Given the description of an element on the screen output the (x, y) to click on. 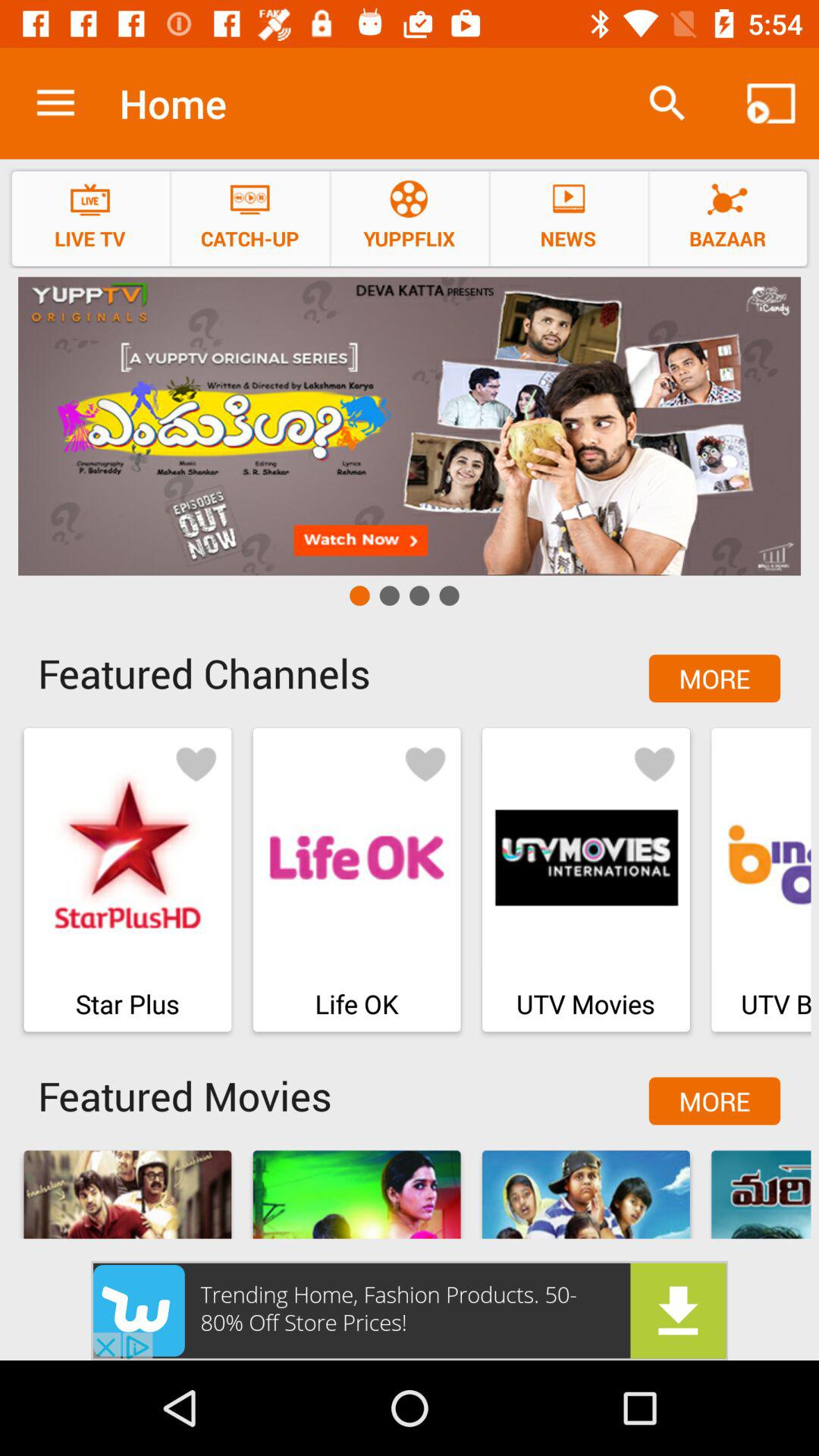
watch channel (409, 425)
